Given the description of an element on the screen output the (x, y) to click on. 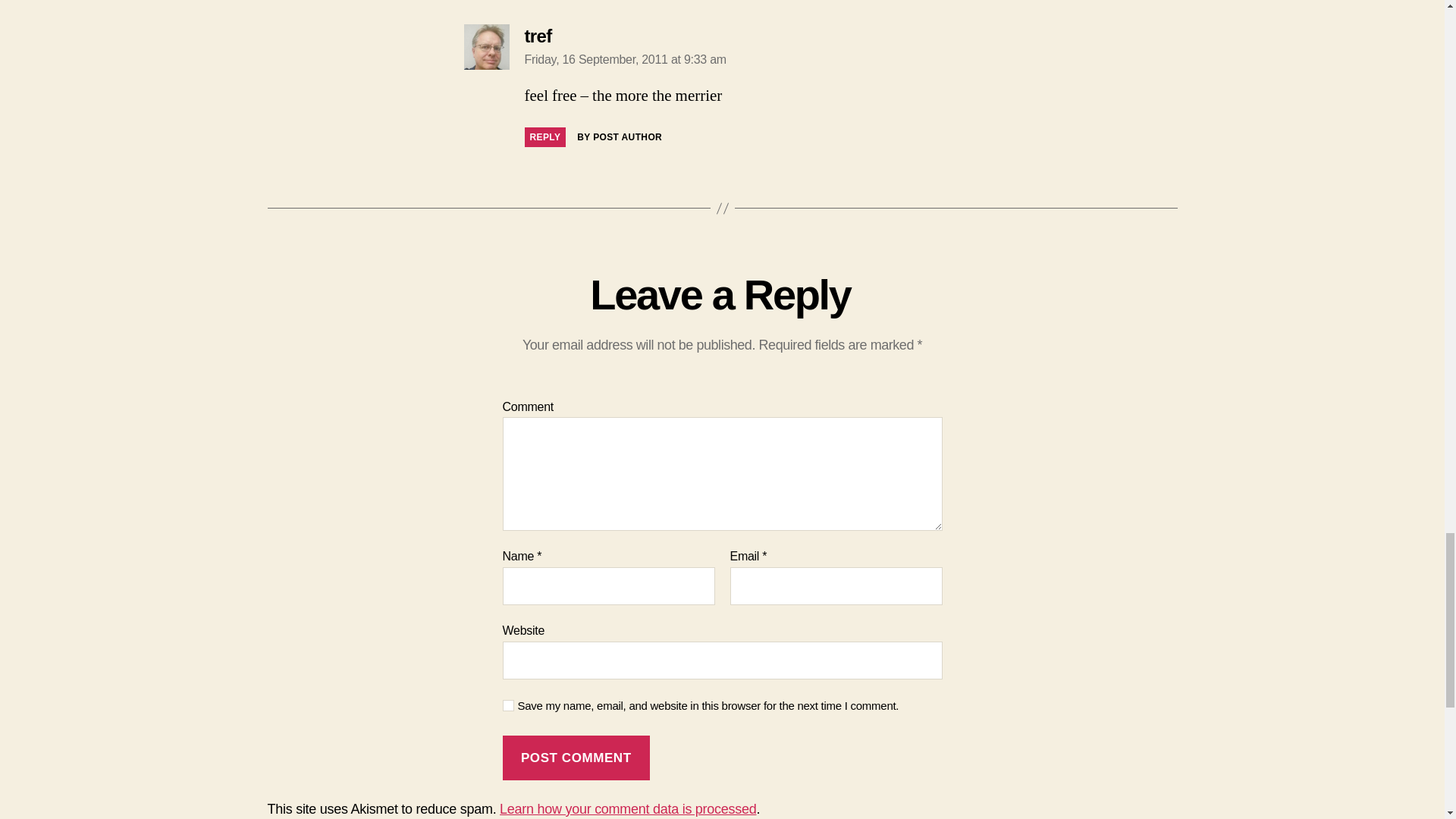
Post Comment (575, 757)
REPLY (545, 137)
yes (507, 705)
